Given the description of an element on the screen output the (x, y) to click on. 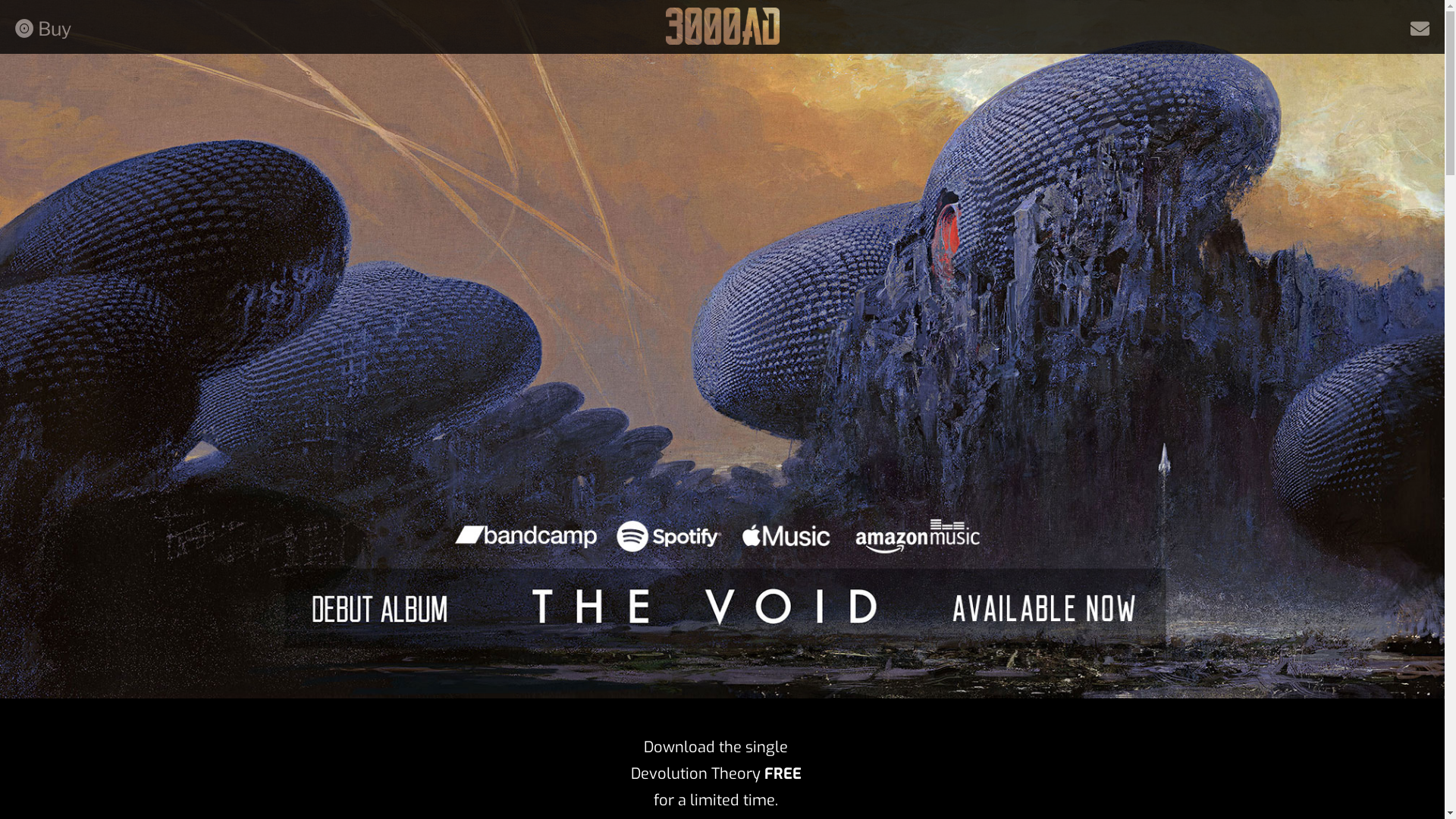
 Buy Element type: text (43, 28)
